Given the description of an element on the screen output the (x, y) to click on. 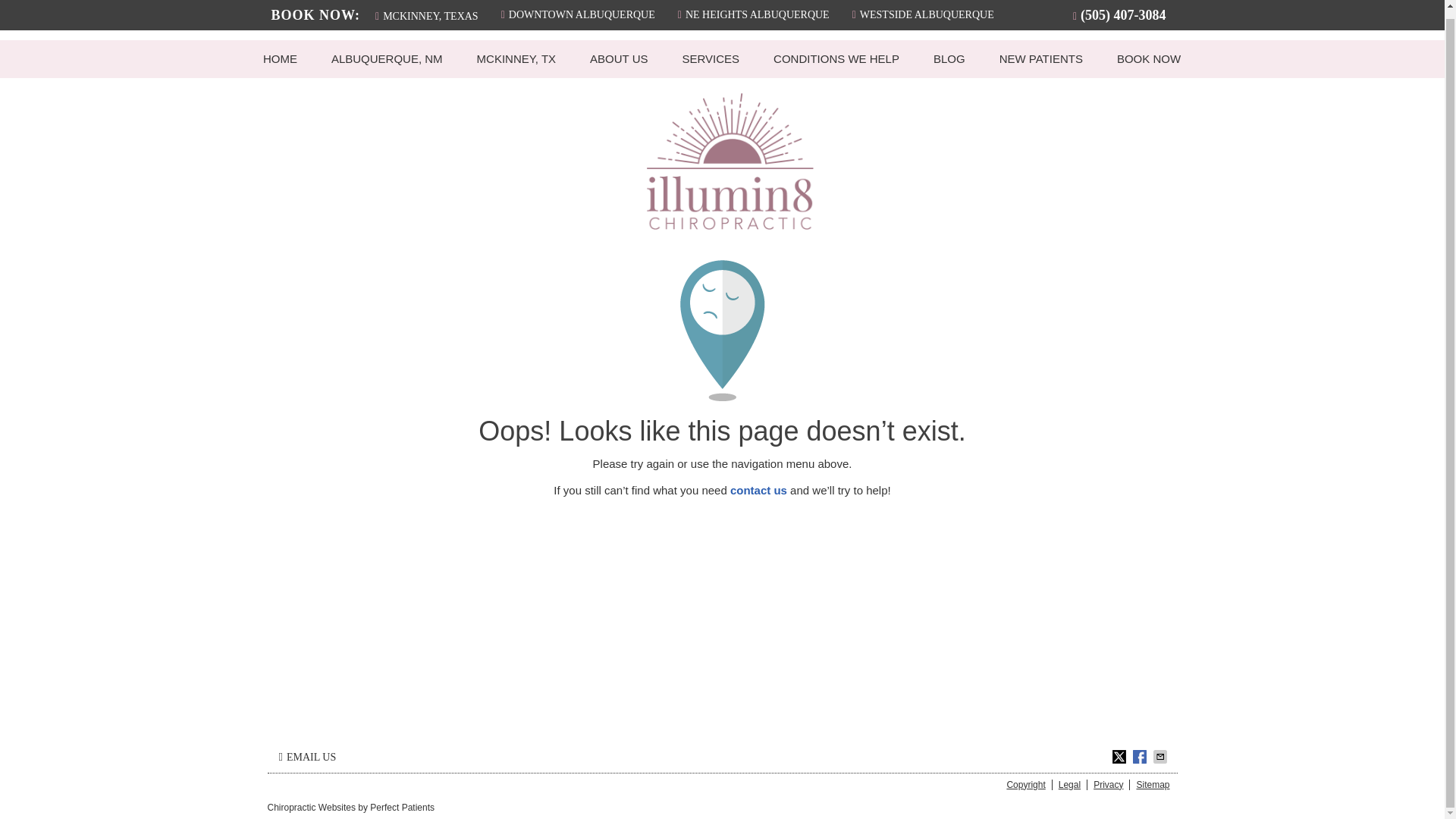
WESTSIDE ALBUQUERQUE (922, 8)
DOWNTOWN ALBUQUERQUE (577, 8)
Welcome to Illumin8 Chiropractic (729, 225)
MCKINNEY, TX (516, 57)
NE HEIGHTS ALBUQUERQUE (753, 8)
Footer Links (1084, 784)
BLOG (949, 57)
Contact (306, 756)
SERVICES (711, 57)
MCKINNEY, TEXAS (427, 9)
